Given the description of an element on the screen output the (x, y) to click on. 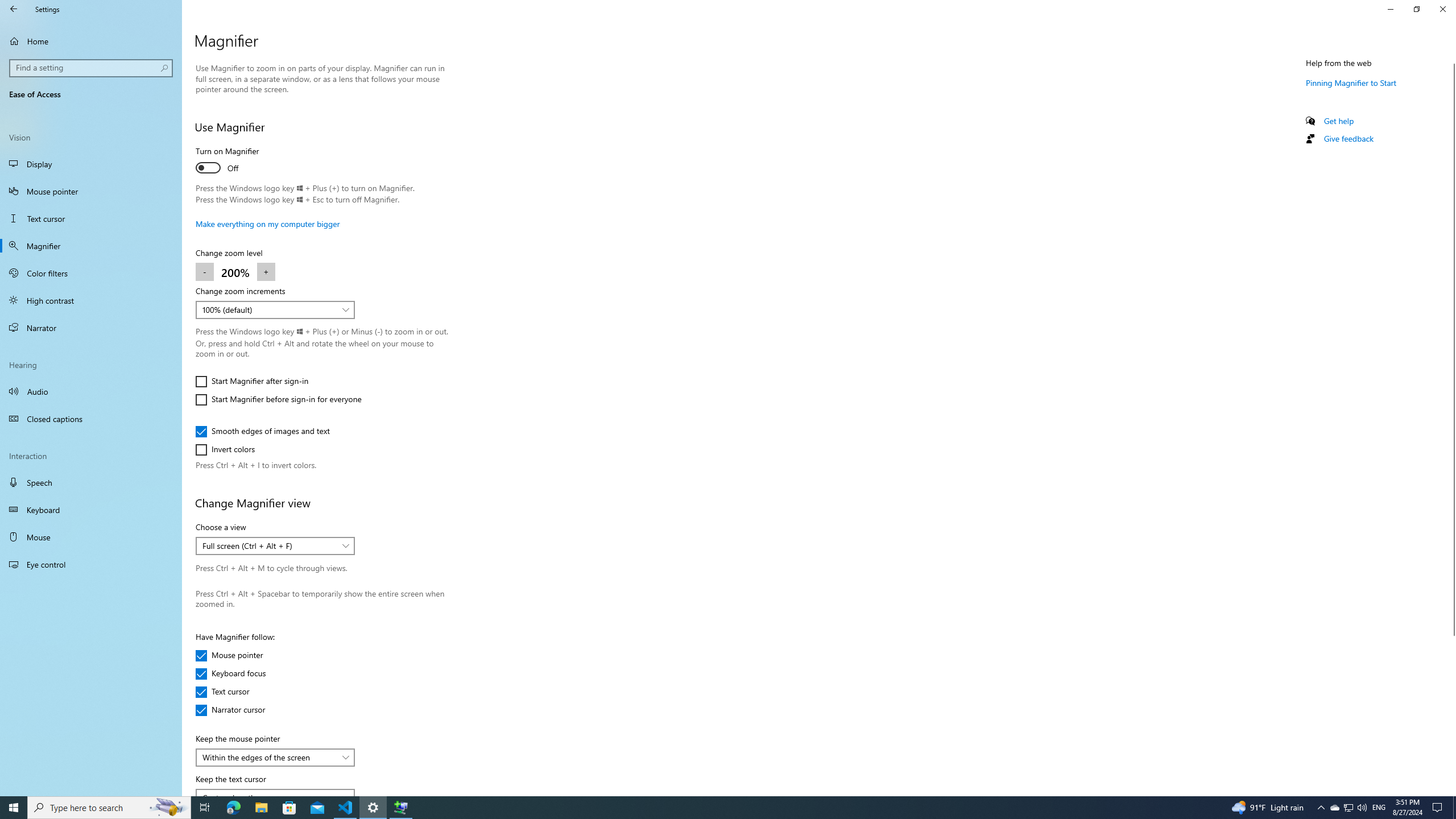
Keyboard (91, 509)
Microsoft Store (289, 807)
Show desktop (1454, 807)
File Explorer (261, 807)
Eye control (91, 564)
Invert colors (229, 449)
Running applications (706, 807)
Start Magnifier before sign-in for everyone (278, 399)
